Given the description of an element on the screen output the (x, y) to click on. 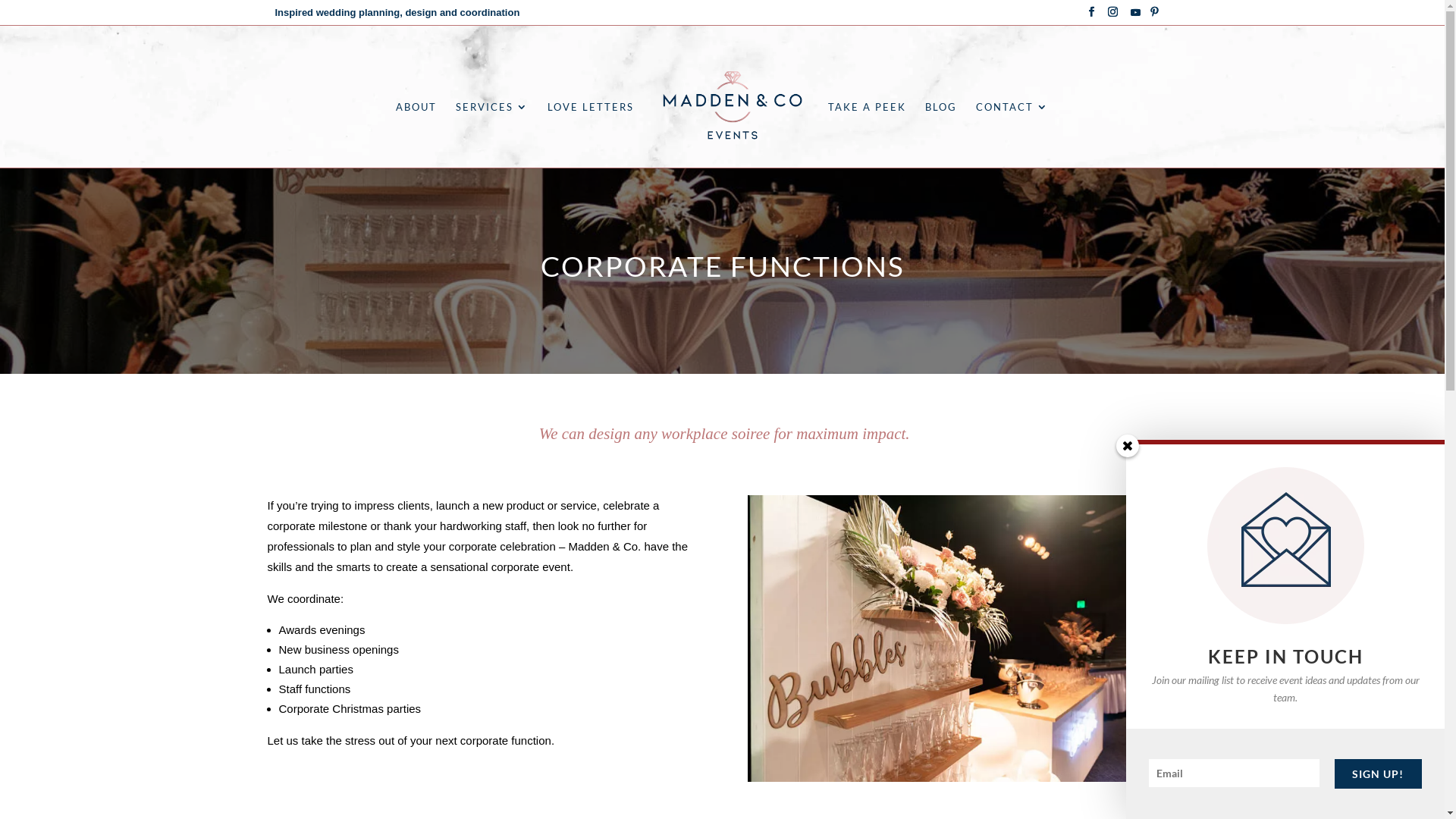
LOVE LETTERS Element type: text (590, 134)
CONTACT Element type: text (1011, 134)
BLOG Element type: text (941, 134)
TAKE A PEEK Element type: text (867, 134)
ABOUT Element type: text (415, 134)
SERVICES Element type: text (491, 134)
SIGN UP! Element type: text (1377, 773)
